Given the description of an element on the screen output the (x, y) to click on. 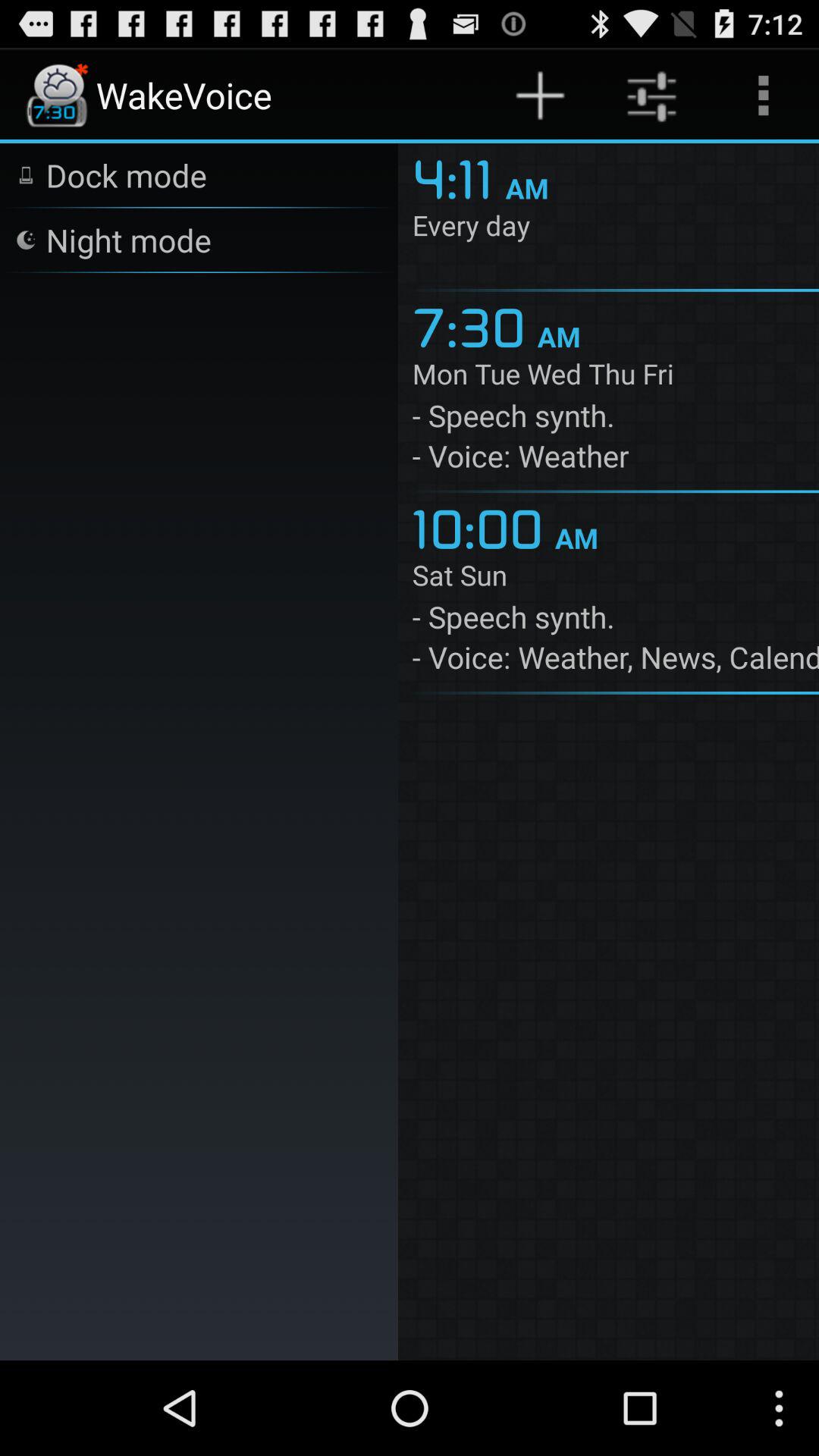
turn on icon to the left of the am (458, 176)
